Given the description of an element on the screen output the (x, y) to click on. 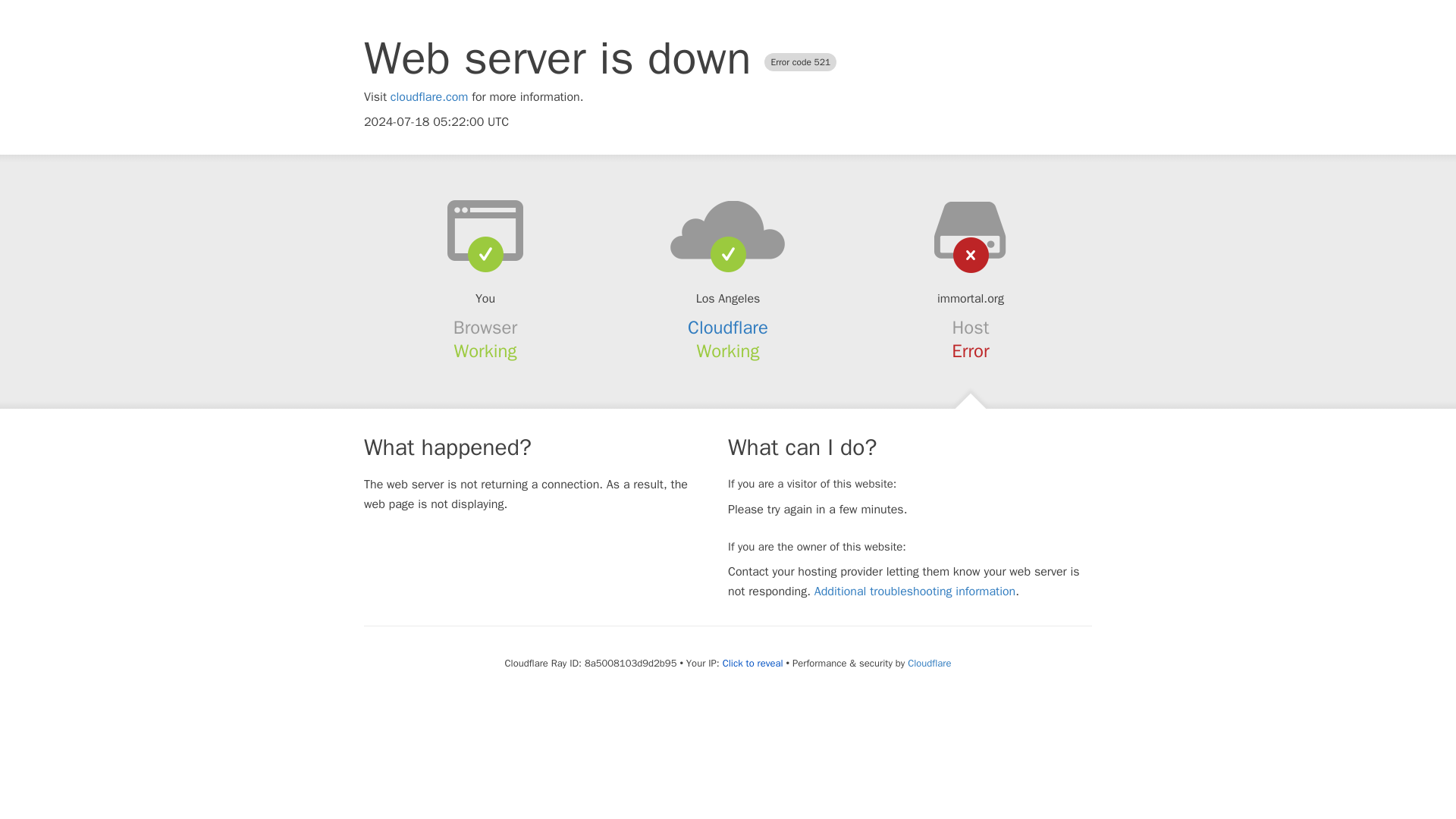
Additional troubleshooting information (913, 590)
Cloudflare (928, 662)
Cloudflare (727, 327)
Click to reveal (752, 663)
cloudflare.com (429, 96)
